Given the description of an element on the screen output the (x, y) to click on. 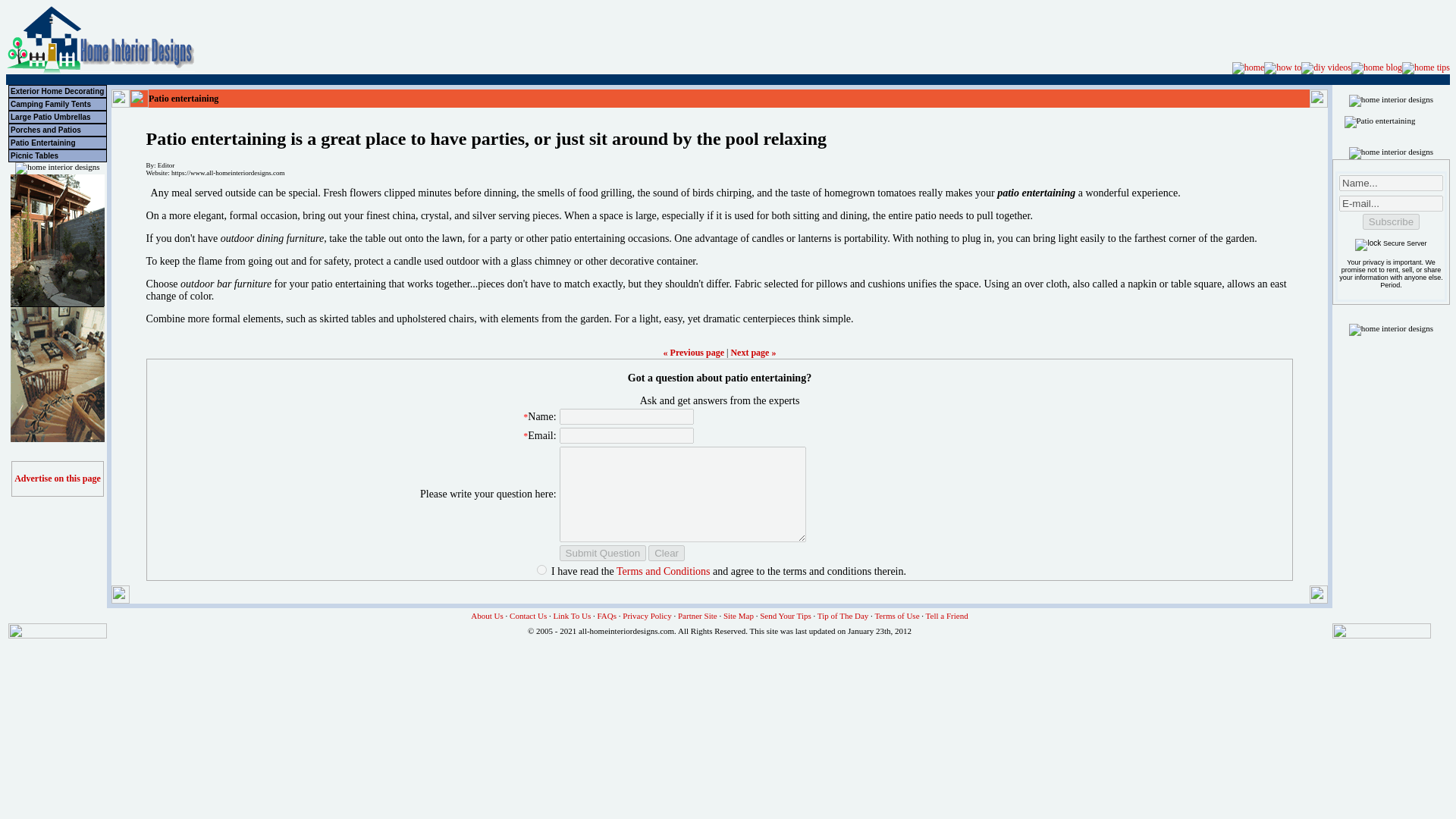
Terms of Use (896, 614)
Patio Entertaining (57, 142)
Patio entertaining (1379, 121)
Contact Us (528, 614)
Clear (665, 553)
I agree (542, 569)
Porches and Patios (57, 129)
Advertise on this page (57, 478)
Link To Us (572, 614)
Tip of The Day (843, 614)
